Given the description of an element on the screen output the (x, y) to click on. 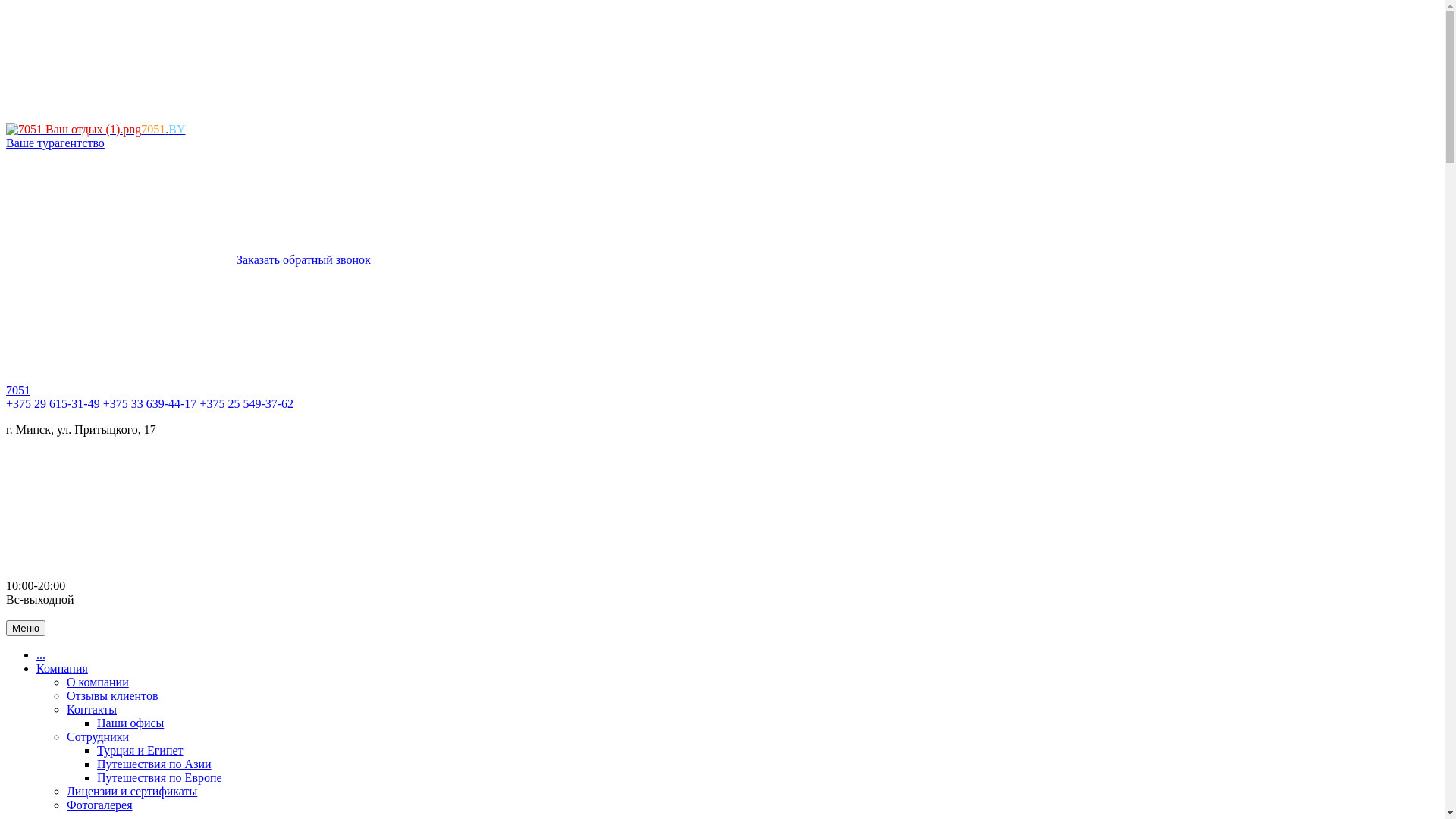
7051 Element type: text (18, 389)
+375 33 639-44-17 Element type: text (150, 403)
... Element type: text (40, 654)
+375 25 549-37-62 Element type: text (246, 403)
+375 29 615-31-49 Element type: text (53, 403)
